Given the description of an element on the screen output the (x, y) to click on. 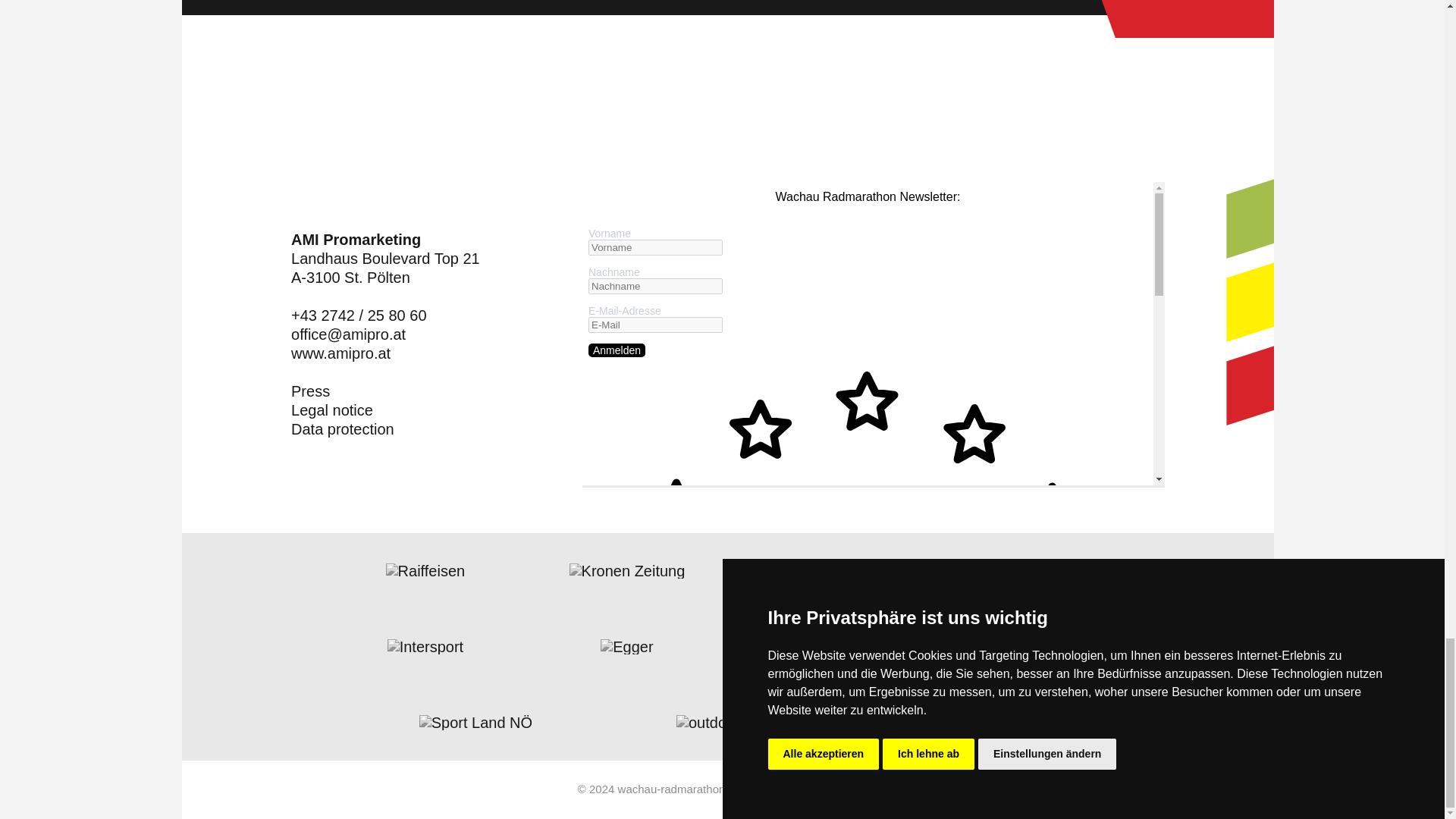
Edtbrustner (979, 722)
Press (310, 391)
Legal notice (331, 410)
Data protection (342, 429)
www.amipro.at (340, 353)
Egger Bier (625, 646)
Press (310, 391)
Grannys (828, 646)
NV (828, 570)
Outdooractive (727, 722)
Raiffeisen (425, 570)
Intersport (425, 646)
Kronenzeitung (627, 570)
